Given the description of an element on the screen output the (x, y) to click on. 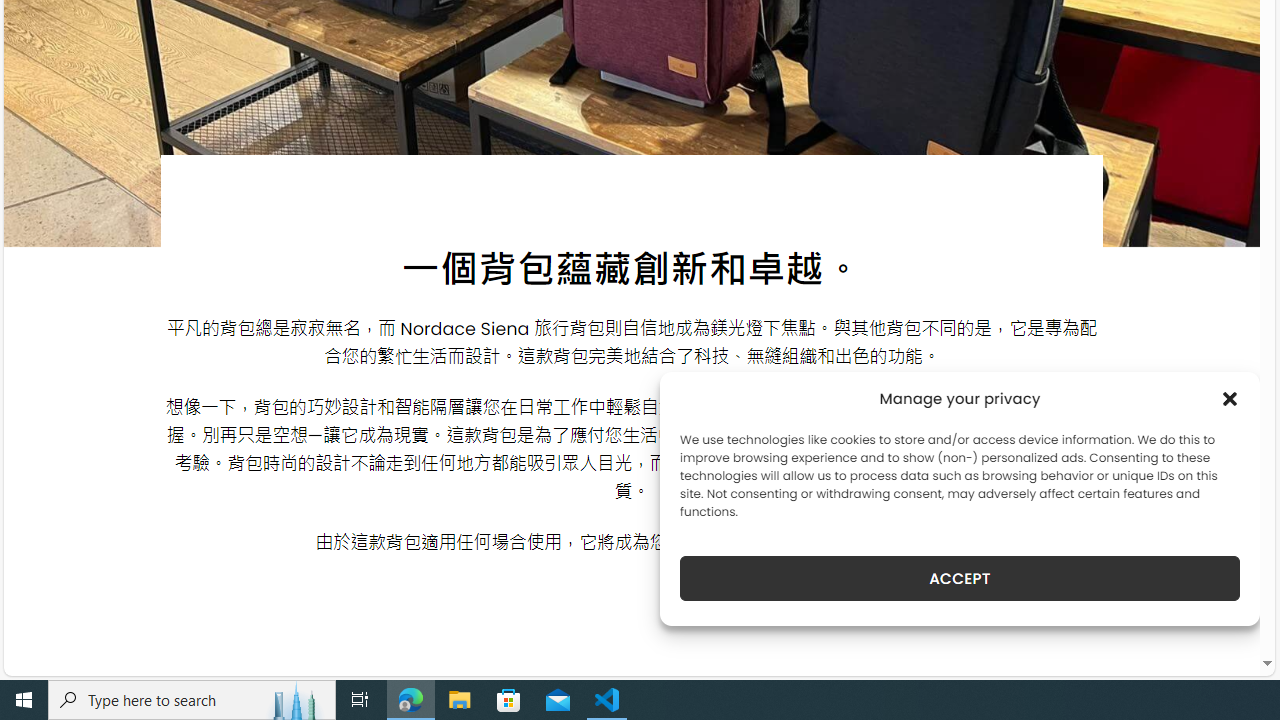
ACCEPT (959, 578)
Class: cmplz-close (1229, 398)
